Given the description of an element on the screen output the (x, y) to click on. 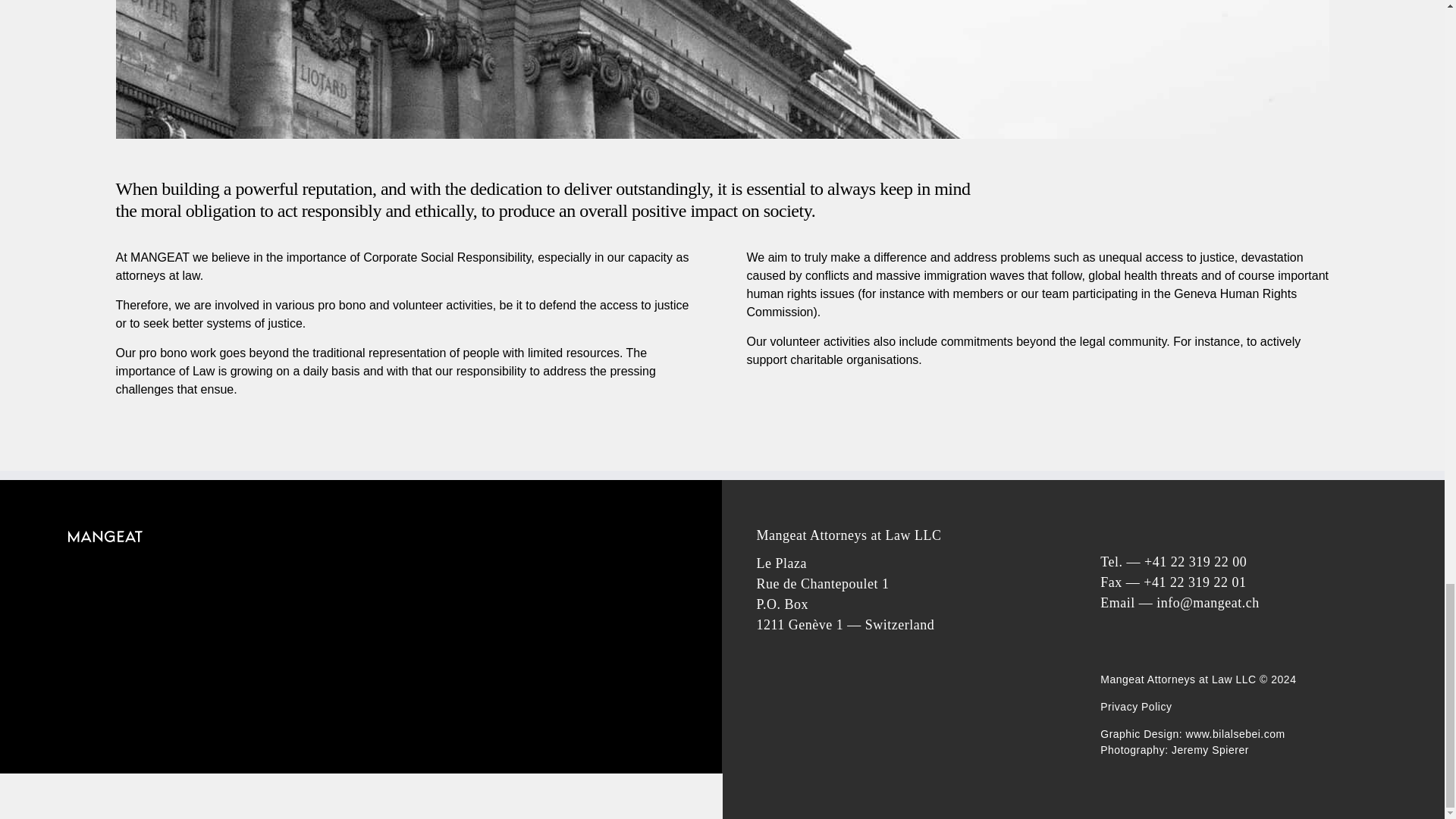
Privacy Policy (1136, 706)
www.bilalsebei.com (1233, 734)
Jeremy Spierer (1210, 749)
